Given the description of an element on the screen output the (x, y) to click on. 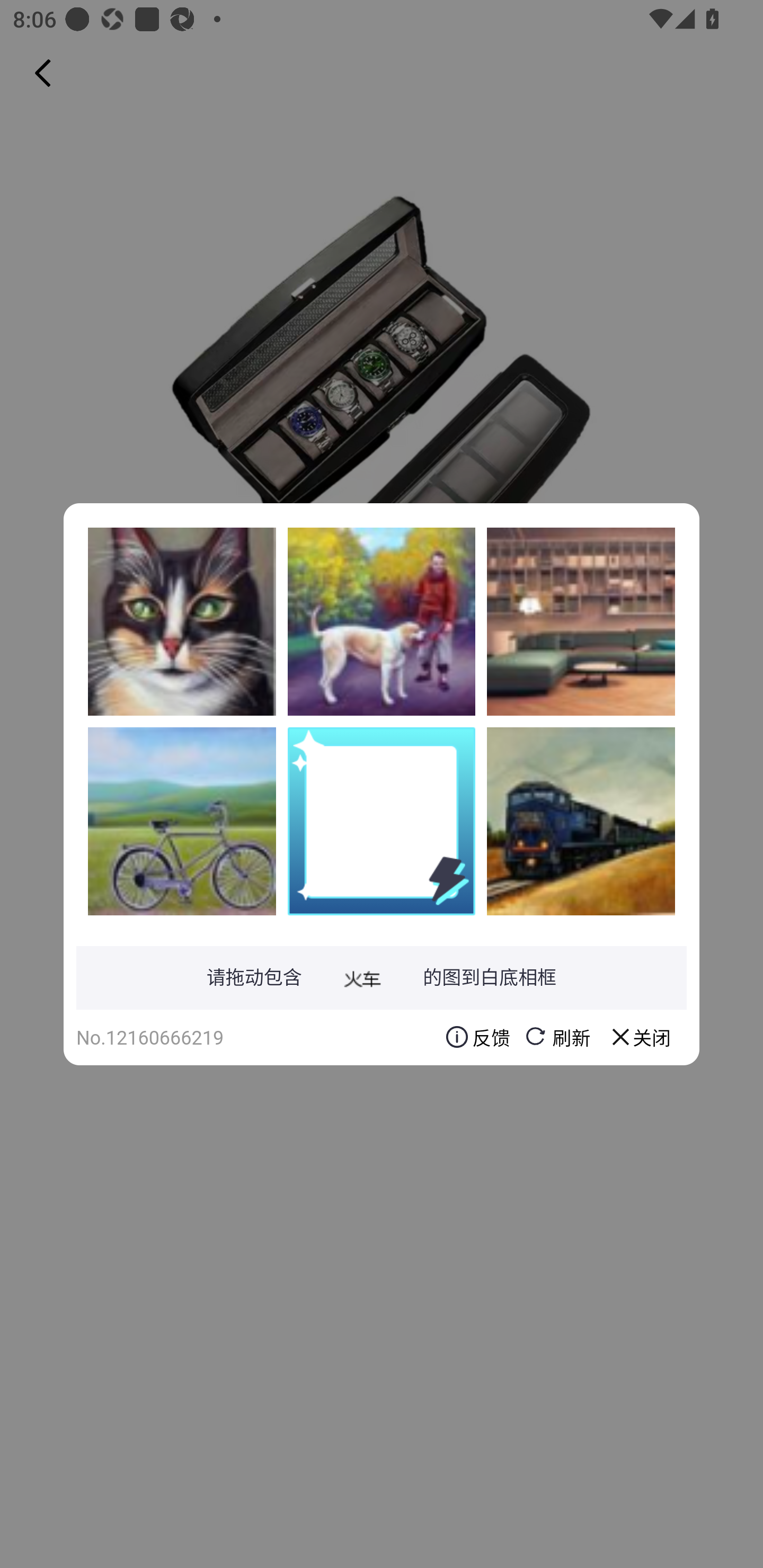
EHXL51C9NbJlGVX4gEb1+E2ztCxcw319+NguR4WBnoQHf91z (181, 621)
